Given the description of an element on the screen output the (x, y) to click on. 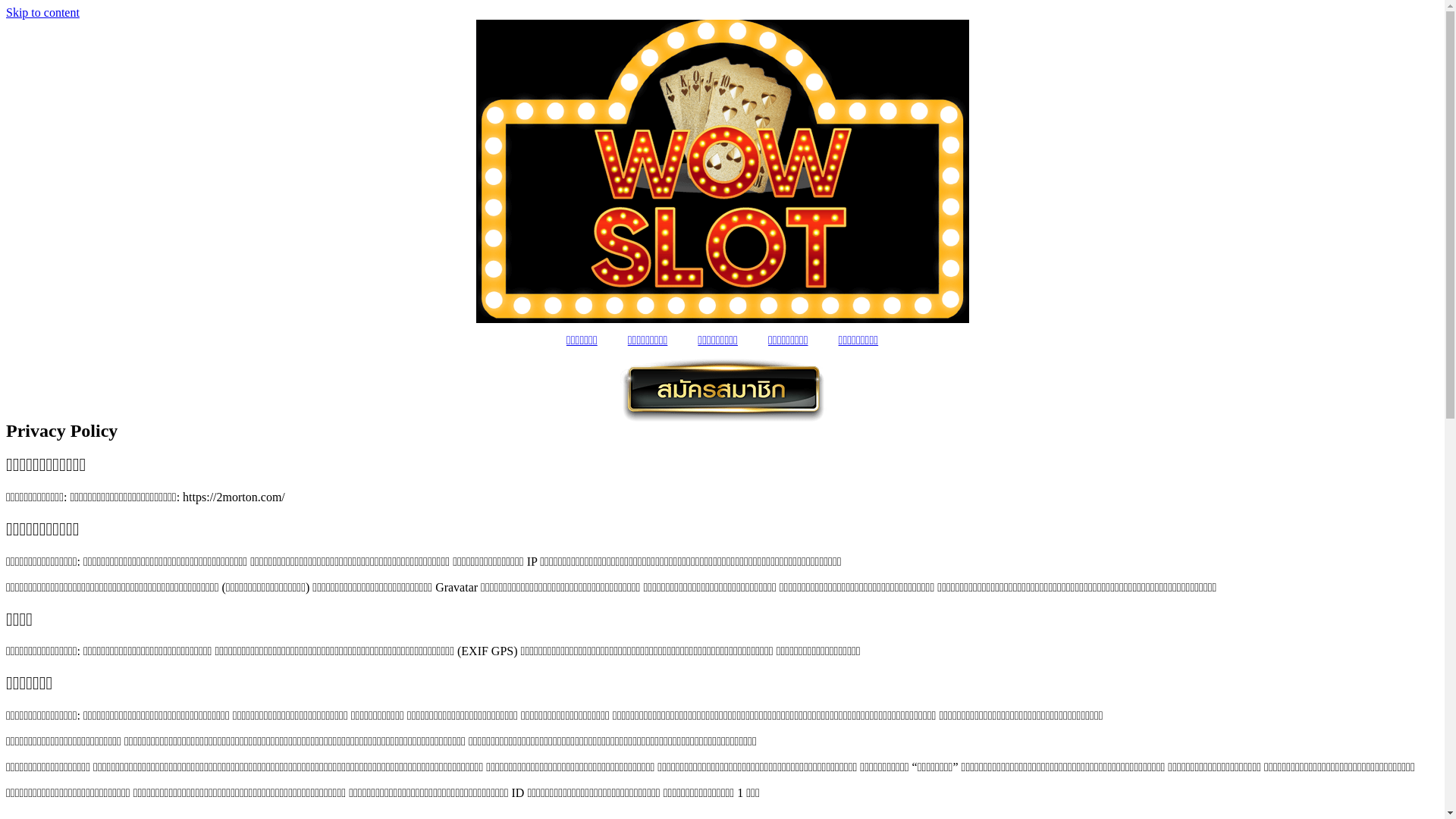
Skip to content Element type: text (42, 12)
